Given the description of an element on the screen output the (x, y) to click on. 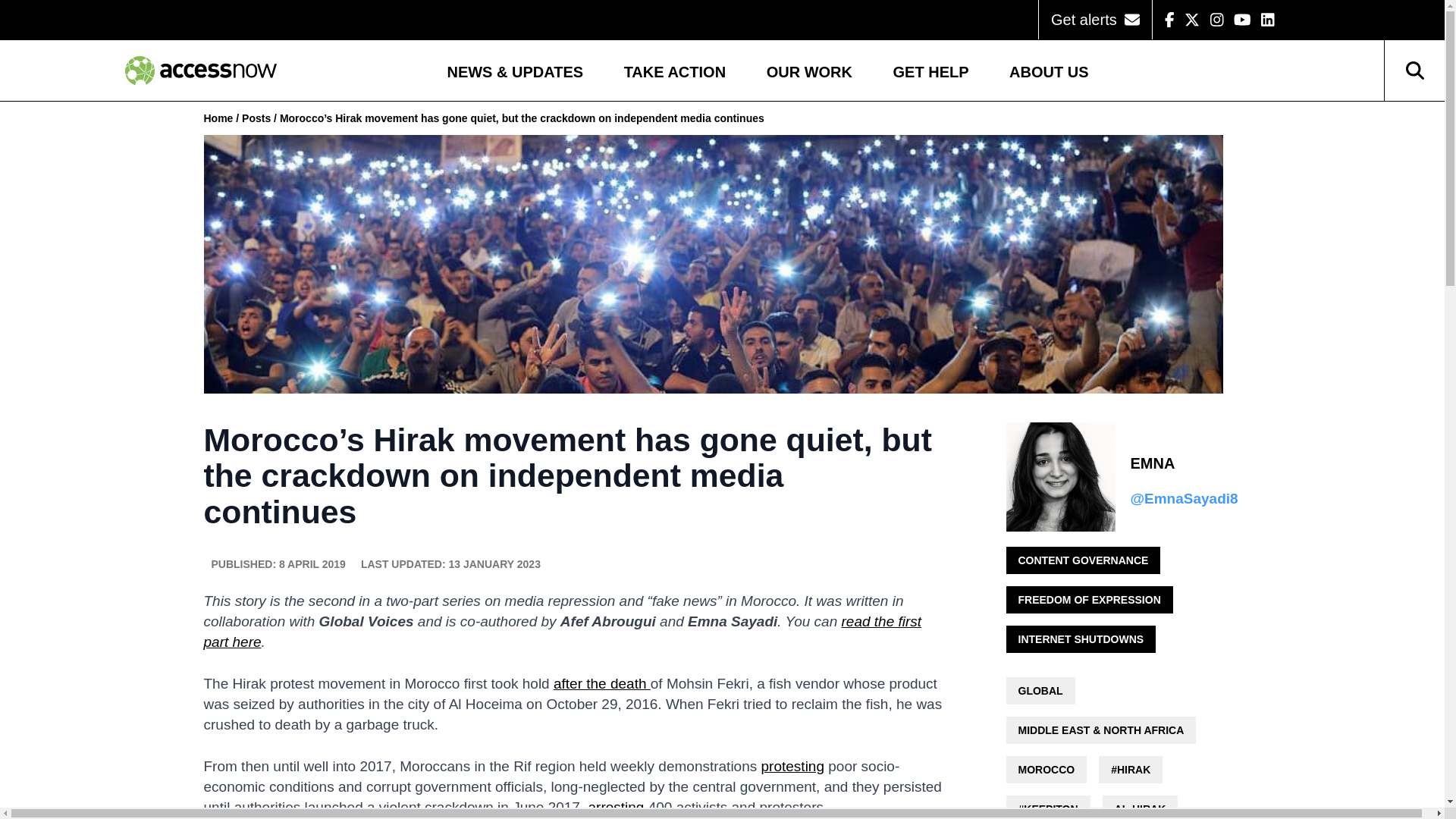
Emna (1060, 476)
YouTube (1241, 19)
TAKE ACTION (674, 74)
Skip to main content (80, 1)
Twitter (1192, 19)
LinkedIn (1267, 19)
Emna (1183, 463)
Facebook (1169, 19)
Access Now (199, 70)
Get alerts (1095, 19)
Instagram (1216, 19)
